Given the description of an element on the screen output the (x, y) to click on. 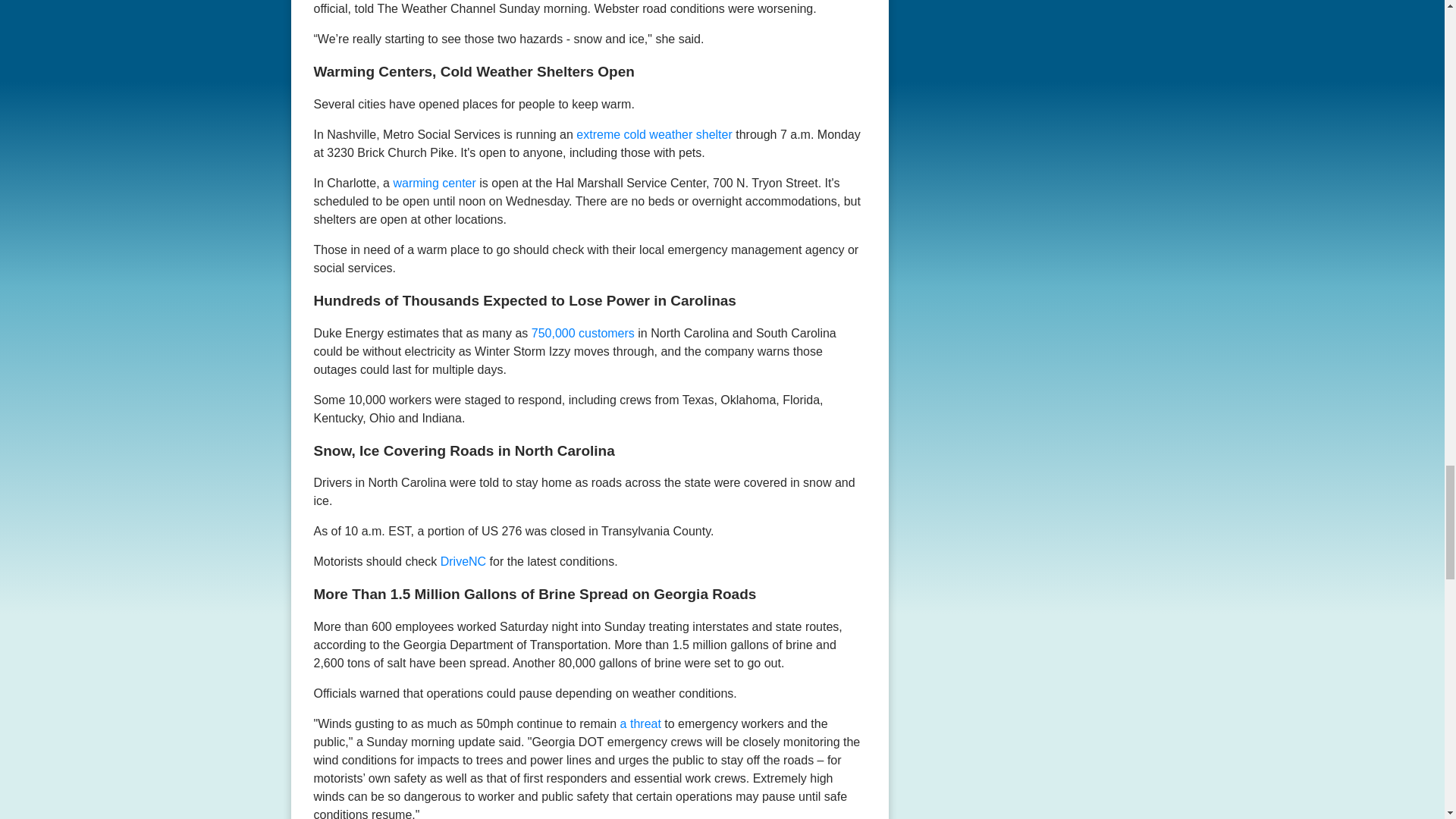
DriveNC (463, 561)
750,000 customers (585, 332)
extreme cold weather shelter (654, 133)
a threat (640, 723)
warming center (434, 182)
